Given the description of an element on the screen output the (x, y) to click on. 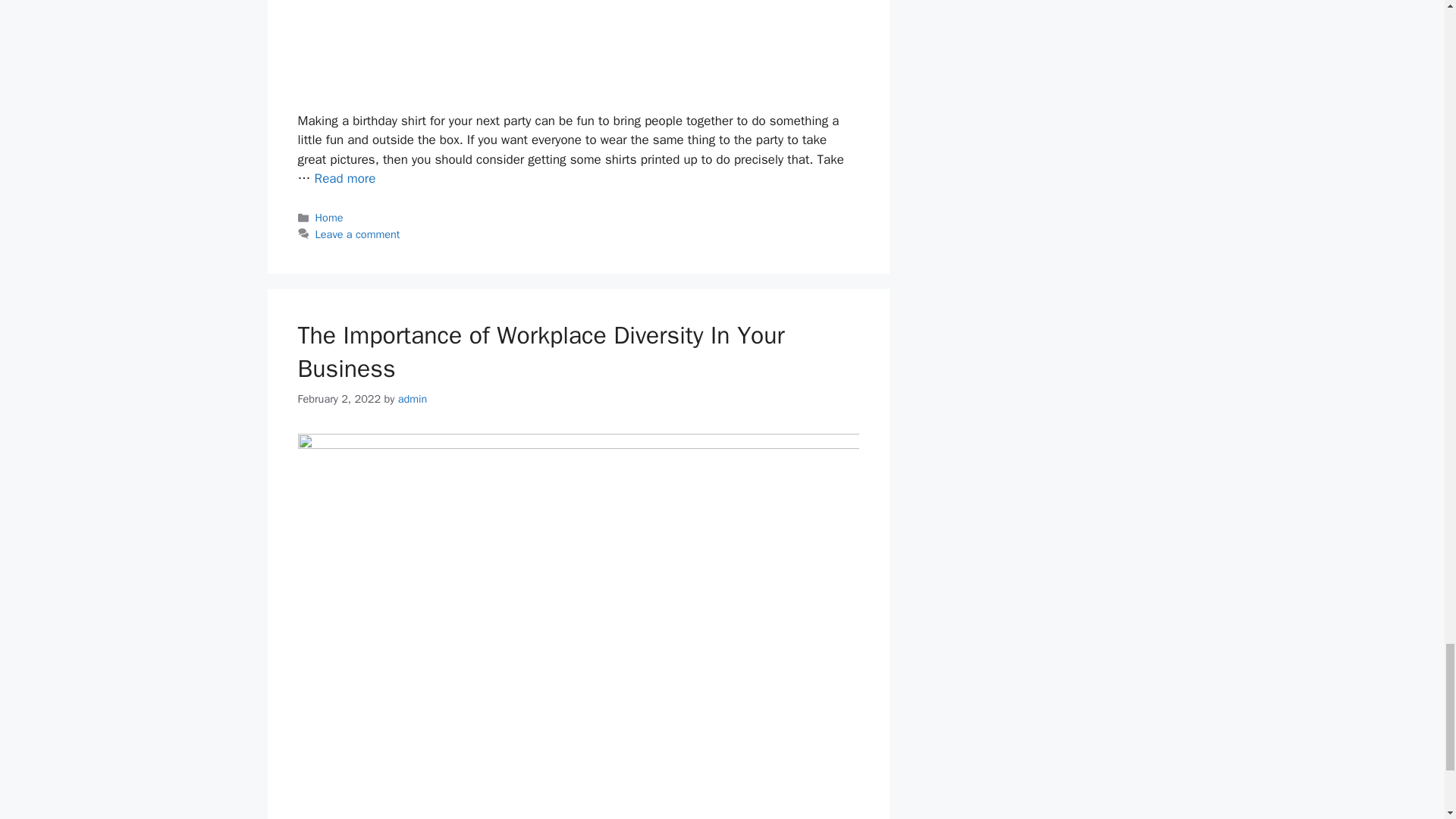
How To Make a Birthday Shirt For Your Next Party (344, 178)
View all posts by admin (412, 398)
